Given the description of an element on the screen output the (x, y) to click on. 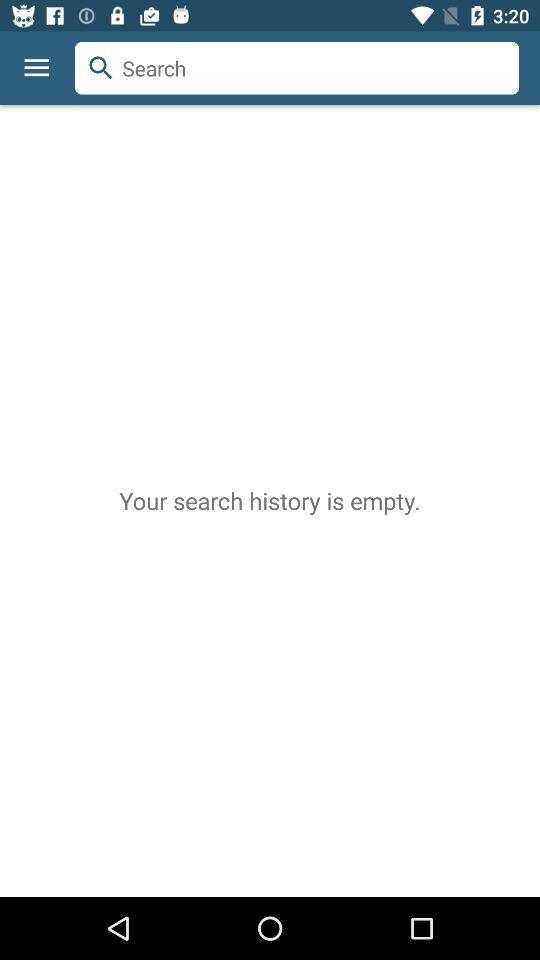
turn off the icon above your search history icon (74, 42)
